Given the description of an element on the screen output the (x, y) to click on. 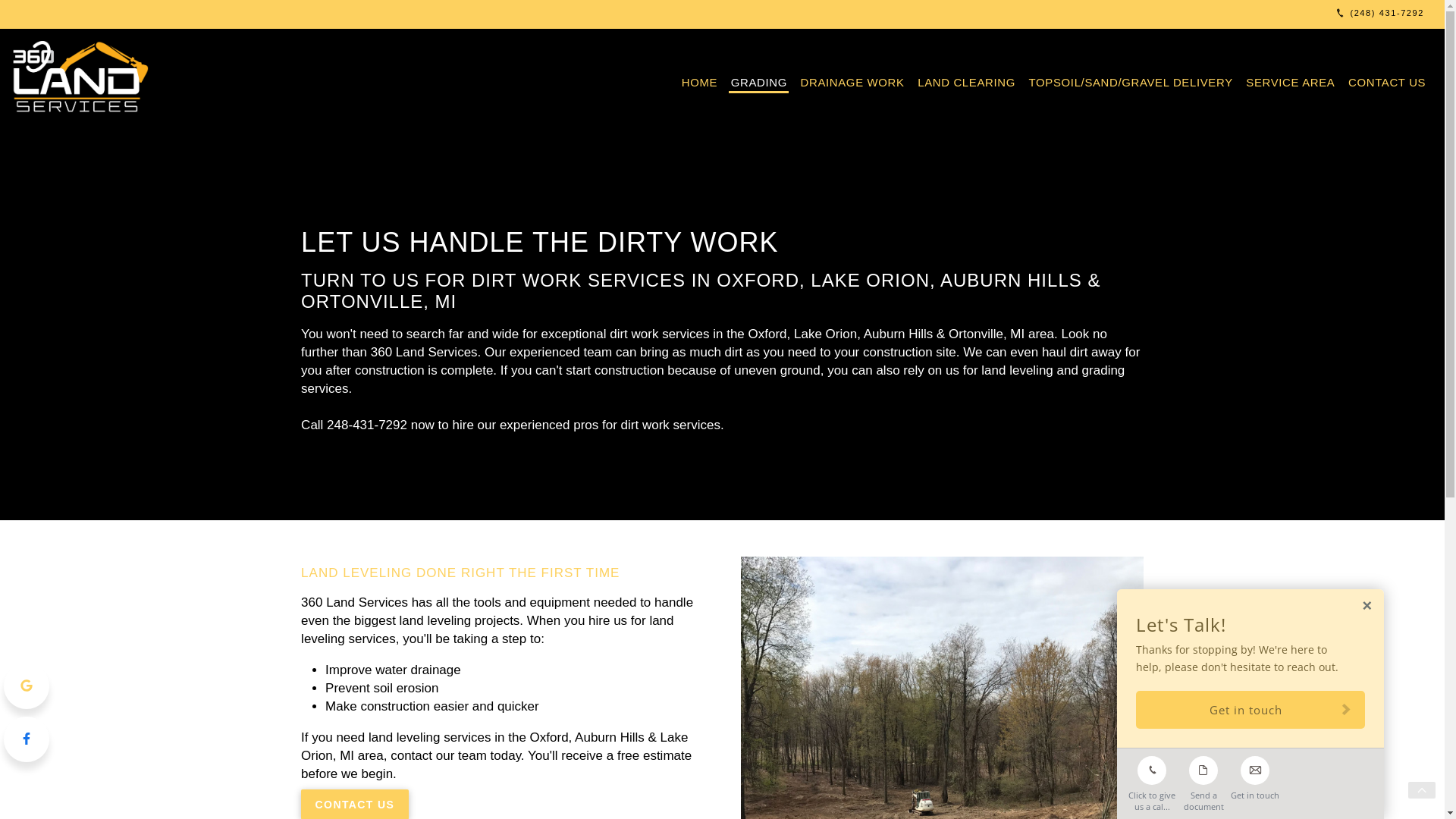
360 Land Services Element type: hover (83, 78)
DRAINAGE WORK Element type: text (852, 79)
Get in touch Element type: text (1254, 780)
GRADING Element type: text (758, 79)
SERVICE AREA Element type: text (1290, 79)
Get in touch Element type: text (1250, 709)
TOPSOIL/SAND/GRAVEL DELIVERY Element type: text (1130, 79)
Click to give us a cal... Element type: text (1151, 780)
(248) 431-7292 Element type: text (1379, 13)
CONTACT US Element type: text (1386, 79)
LAND CLEARING Element type: text (966, 79)
HOME Element type: text (698, 79)
Send a document Element type: text (1203, 780)
